Given the description of an element on the screen output the (x, y) to click on. 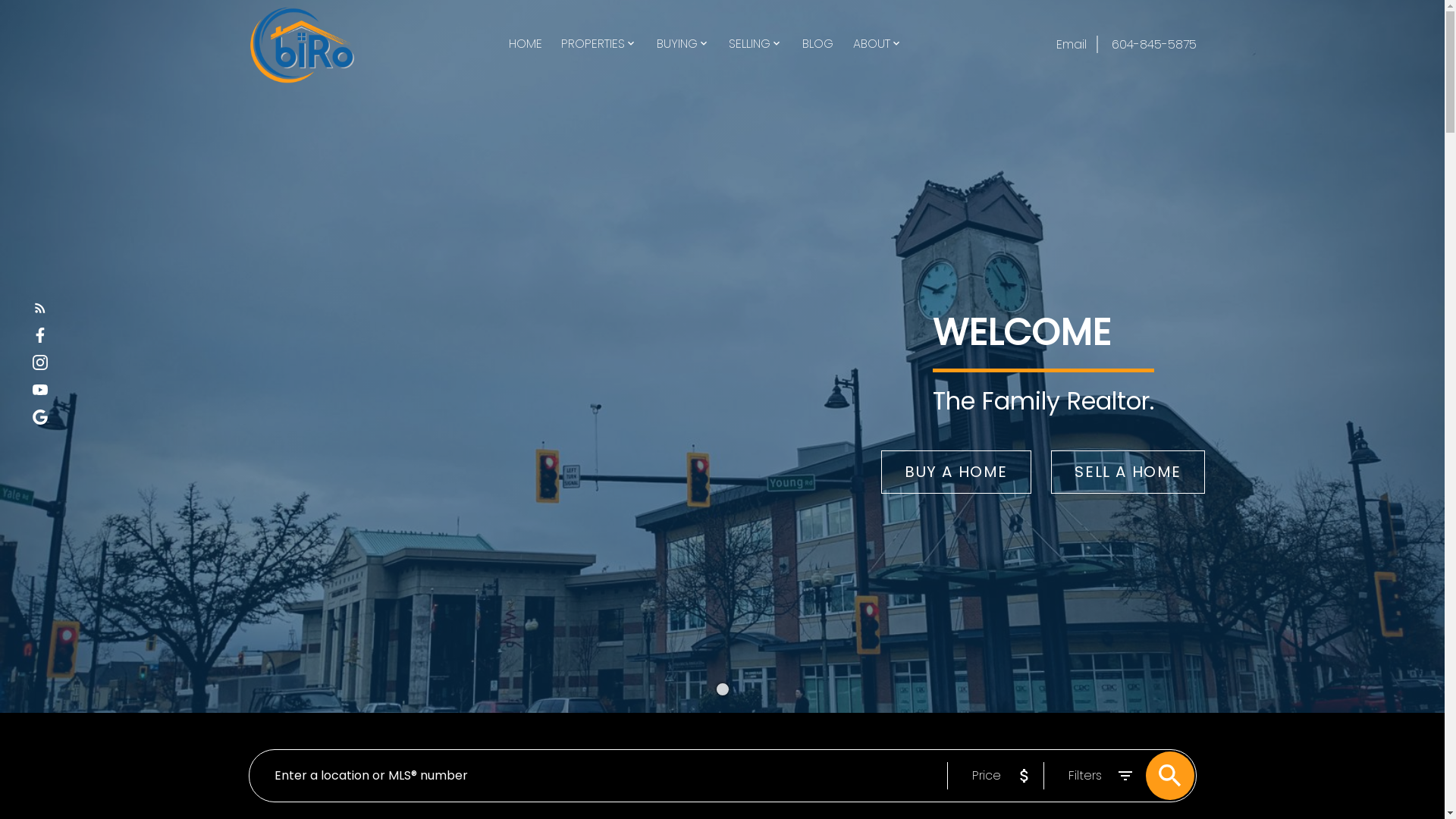
BUYING Element type: text (676, 44)
BUY A HOME Element type: text (956, 471)
PROPERTIES Element type: text (592, 44)
Email Element type: text (1072, 44)
HOME Element type: text (525, 44)
BLOG Element type: text (817, 44)
SELLING Element type: text (749, 44)
SELL A HOME Element type: text (1127, 471)
ABOUT Element type: text (871, 44)
  604-845-5875 Element type: text (1146, 44)
